Given the description of an element on the screen output the (x, y) to click on. 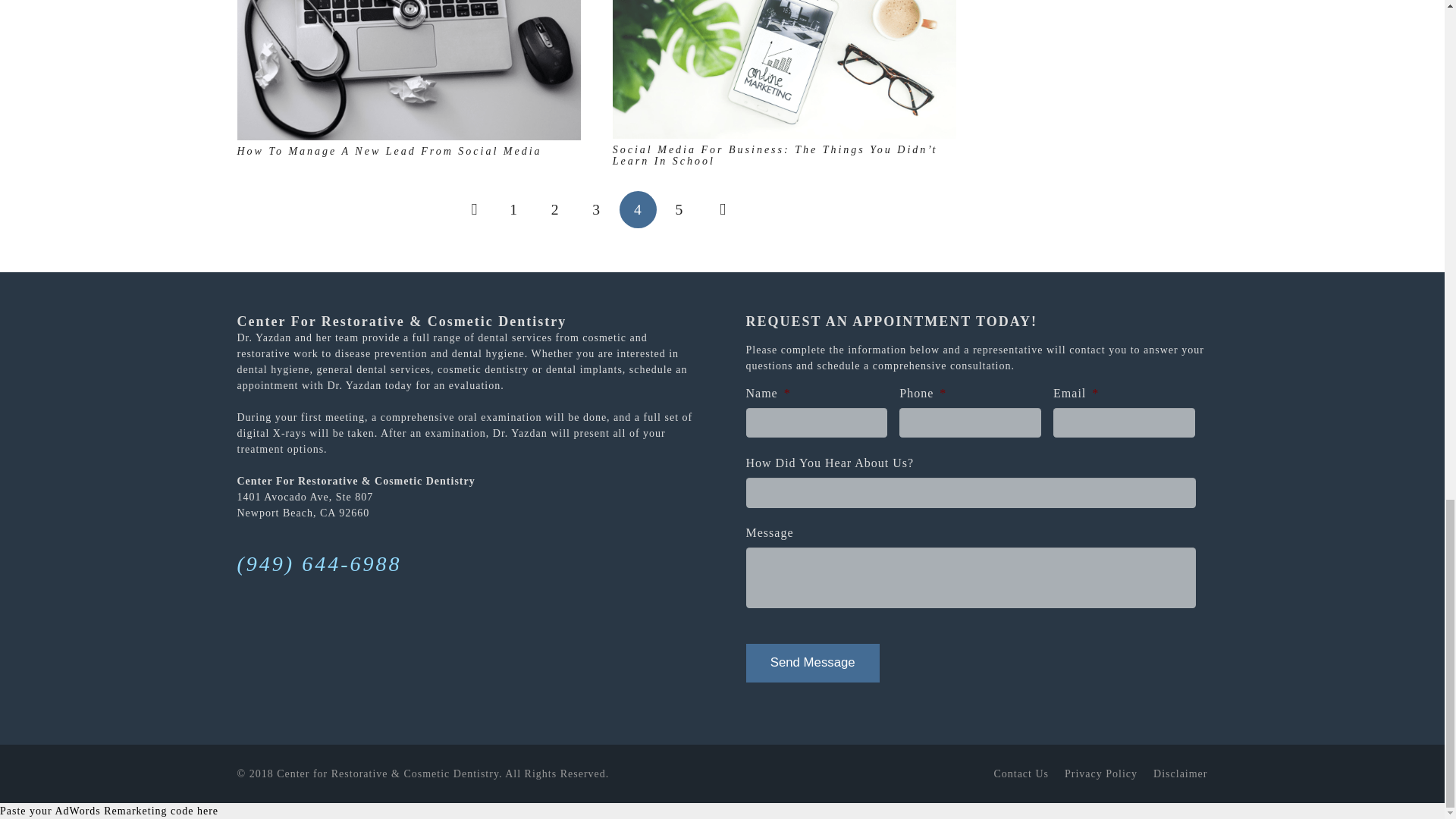
Next (720, 209)
2 (555, 209)
3 (596, 209)
5 (679, 209)
How To Manage A New Lead From Social Media (388, 151)
Previous (471, 209)
1 (513, 209)
Send Message (812, 662)
